Given the description of an element on the screen output the (x, y) to click on. 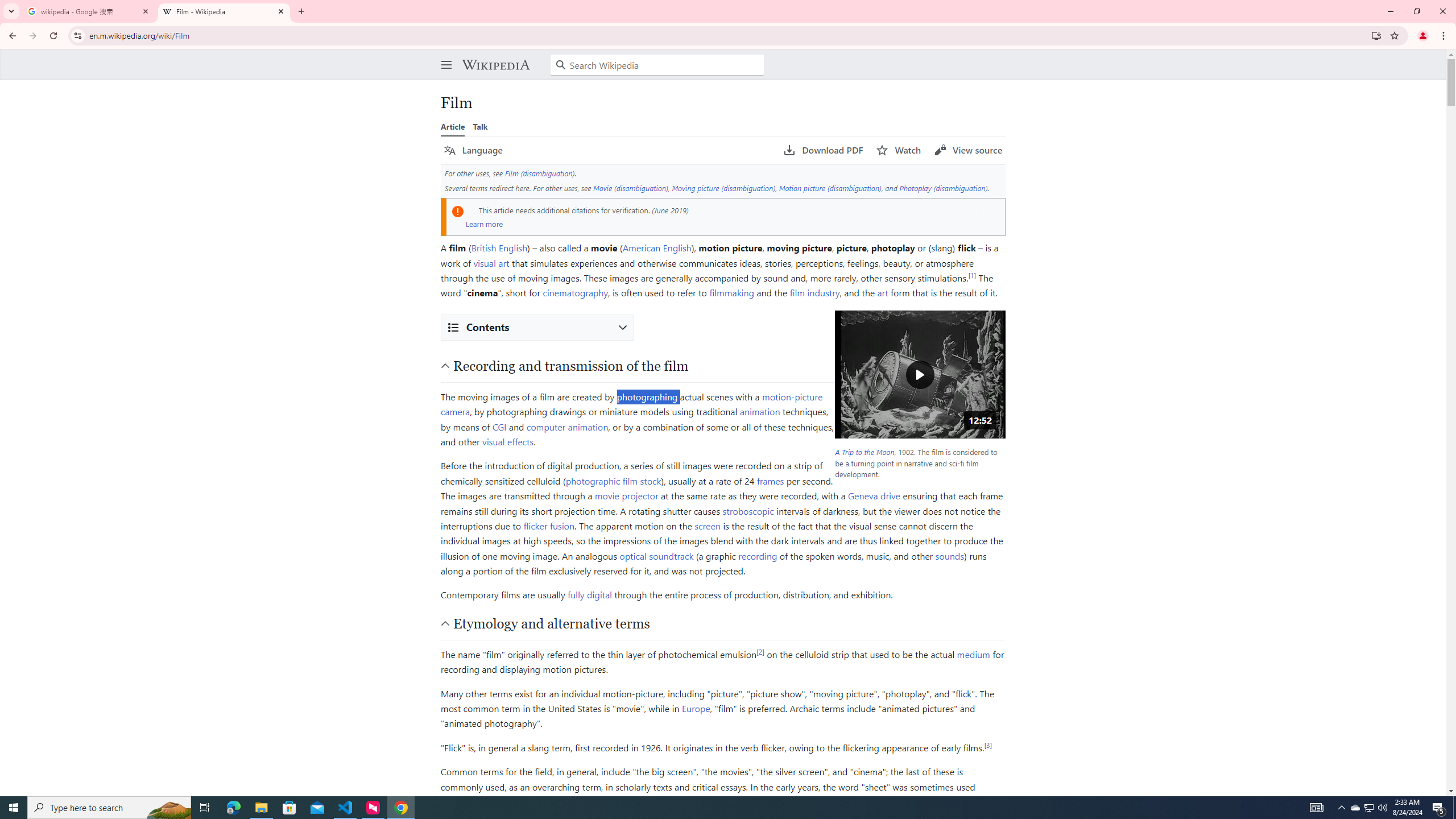
Wikipedia (495, 64)
Play video (920, 374)
AutomationID: page-actions-watch (898, 150)
Download PDF (823, 149)
photographing (646, 395)
[1] (972, 275)
Film (disambiguation) (539, 173)
medium (973, 653)
AutomationID: page-actions-viewsource (968, 150)
